Given the description of an element on the screen output the (x, y) to click on. 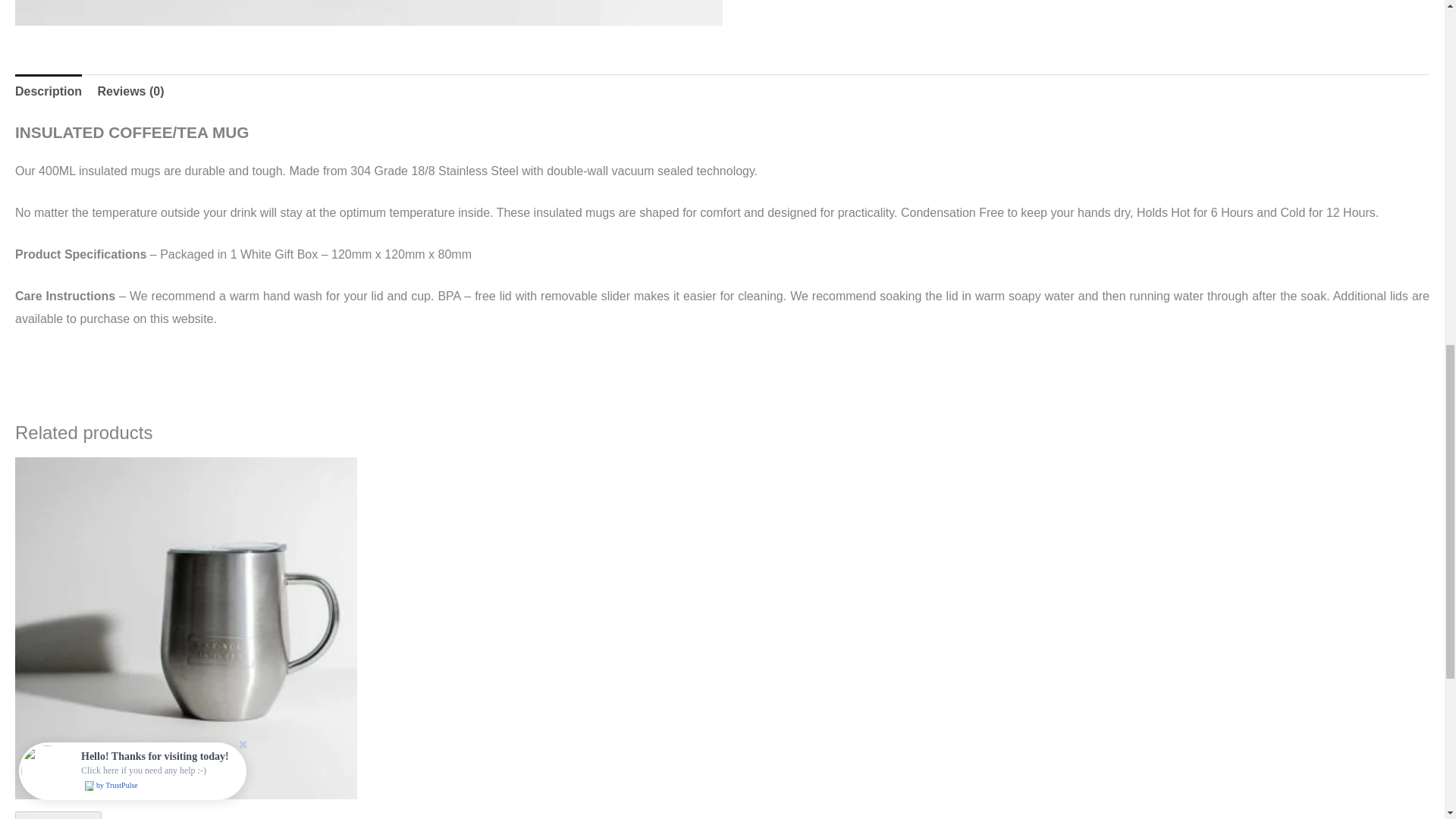
Black 400ML Mug with Handle - Love Your Travels (368, 12)
